Given the description of an element on the screen output the (x, y) to click on. 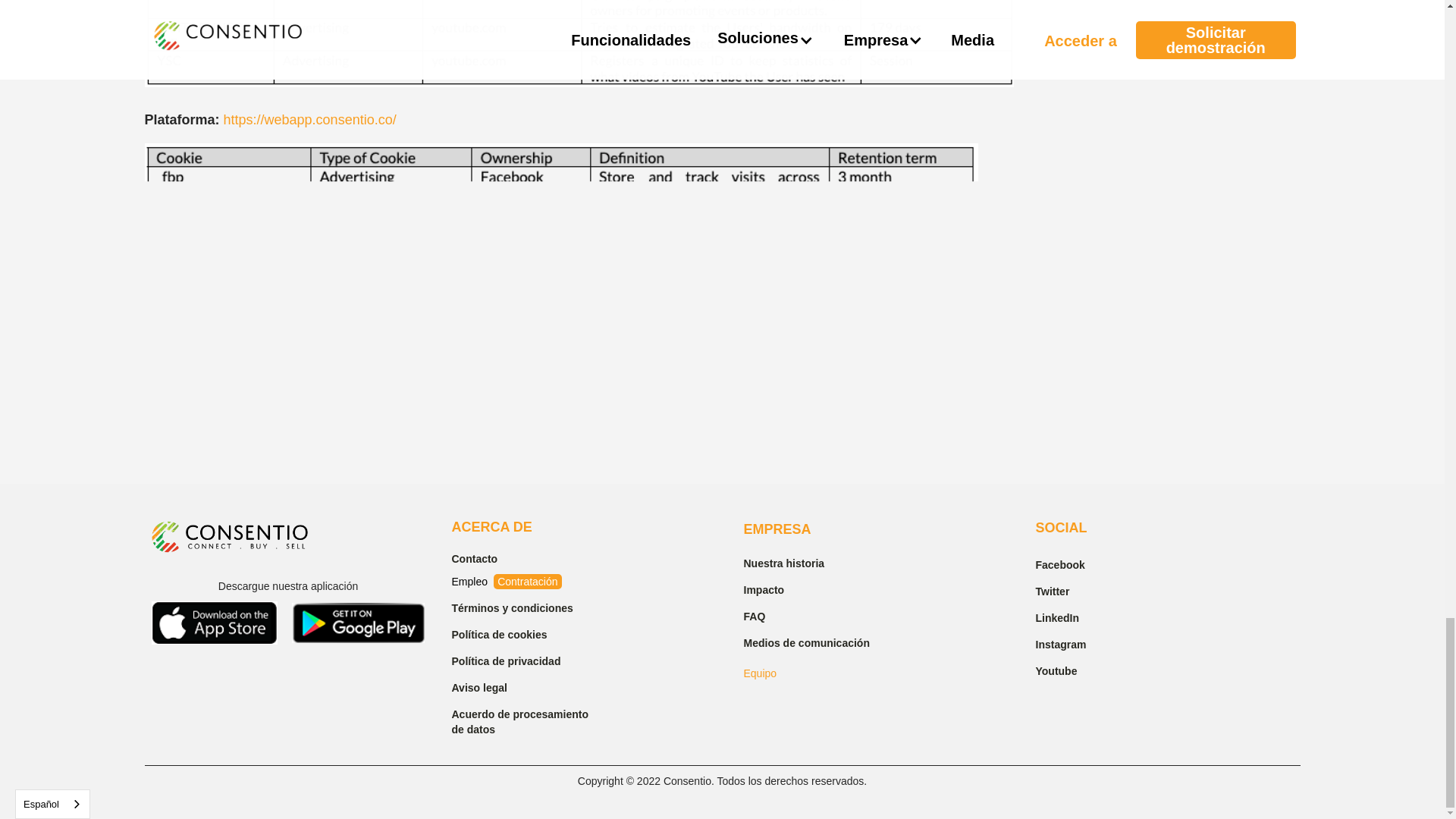
Equipo (759, 672)
Contacto (527, 556)
Acuerdo de procesamiento de datos (527, 719)
FAQ (818, 614)
Impacto (818, 587)
Aviso legal (527, 685)
Nuestra historia (818, 561)
Empleo (470, 581)
